Given the description of an element on the screen output the (x, y) to click on. 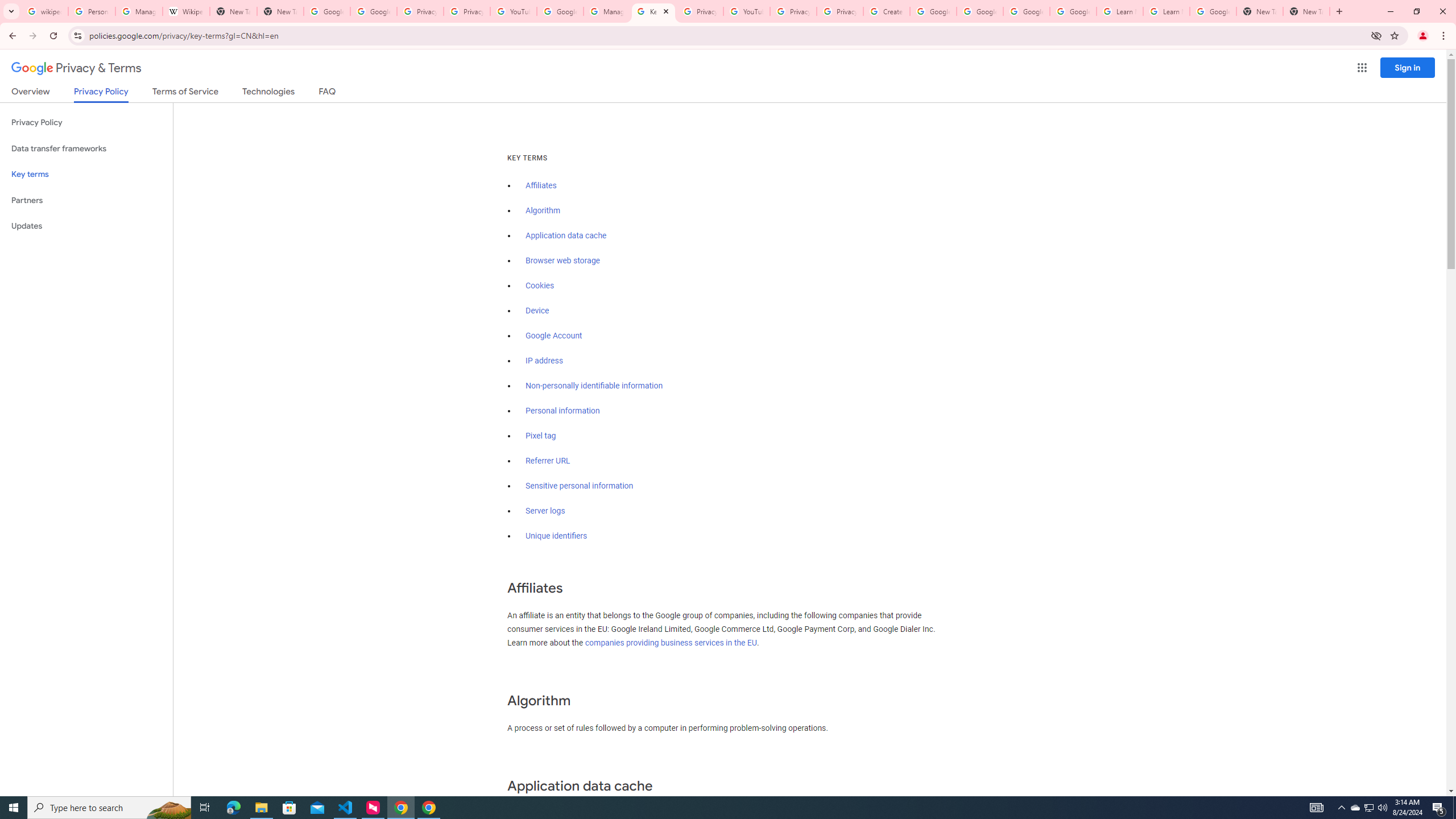
Data transfer frameworks (86, 148)
Personalization & Google Search results - Google Search Help (91, 11)
Google Account (553, 335)
Google apps (1362, 67)
Google Account Help (933, 11)
Pixel tag (540, 435)
Server logs (544, 511)
companies providing business services in the EU (671, 642)
